Given the description of an element on the screen output the (x, y) to click on. 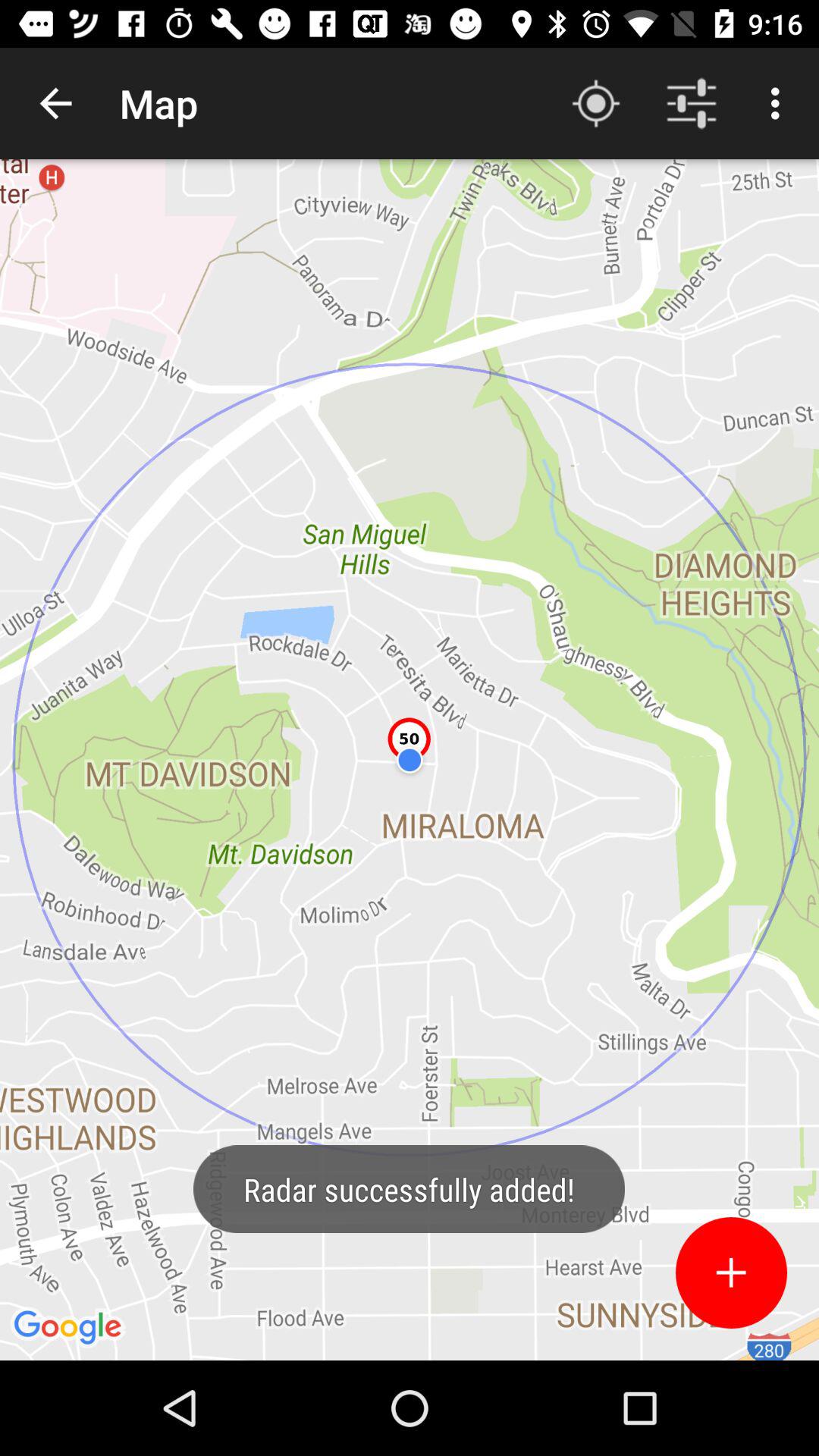
open item at the bottom right corner (731, 1272)
